Given the description of an element on the screen output the (x, y) to click on. 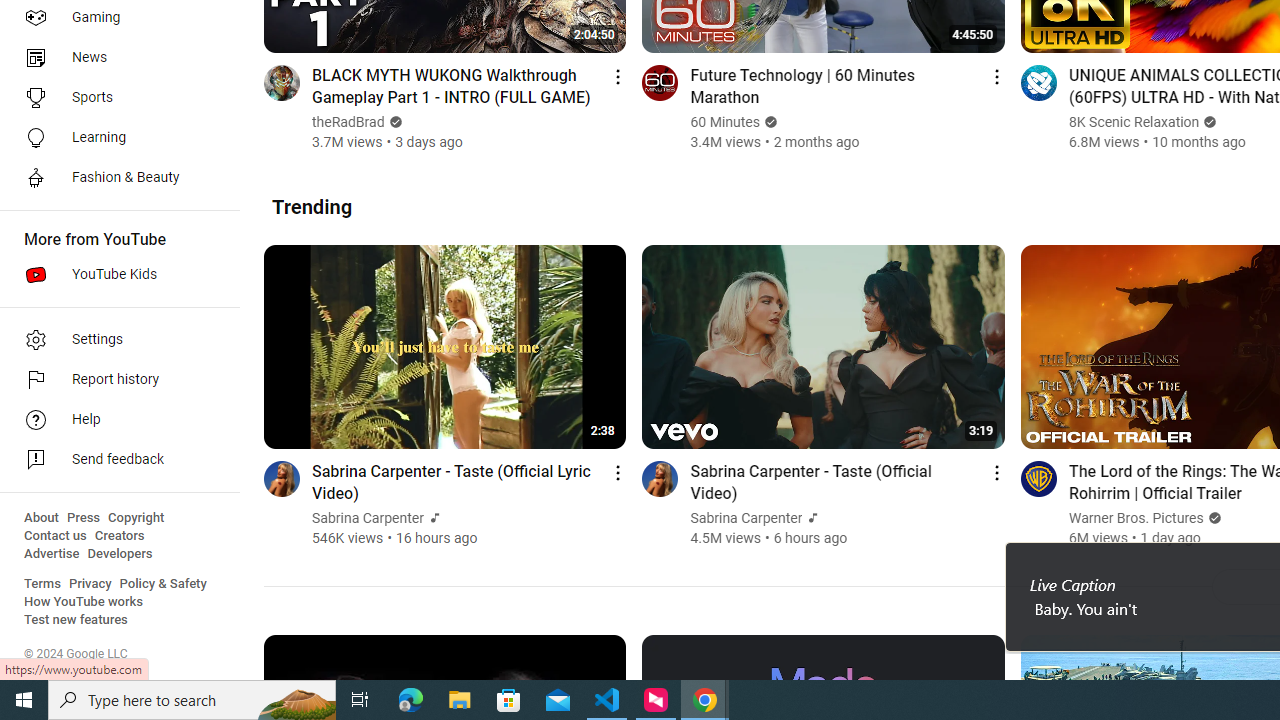
Contact us (55, 536)
Privacy (89, 584)
Developers (120, 554)
Verified (1212, 518)
Go to channel (1038, 478)
Advertise (51, 554)
How YouTube works (83, 602)
Press (83, 518)
About (41, 518)
Help (113, 419)
Creators (118, 536)
Fashion & Beauty (113, 177)
Learning (113, 137)
Trending (312, 206)
News (113, 57)
